Given the description of an element on the screen output the (x, y) to click on. 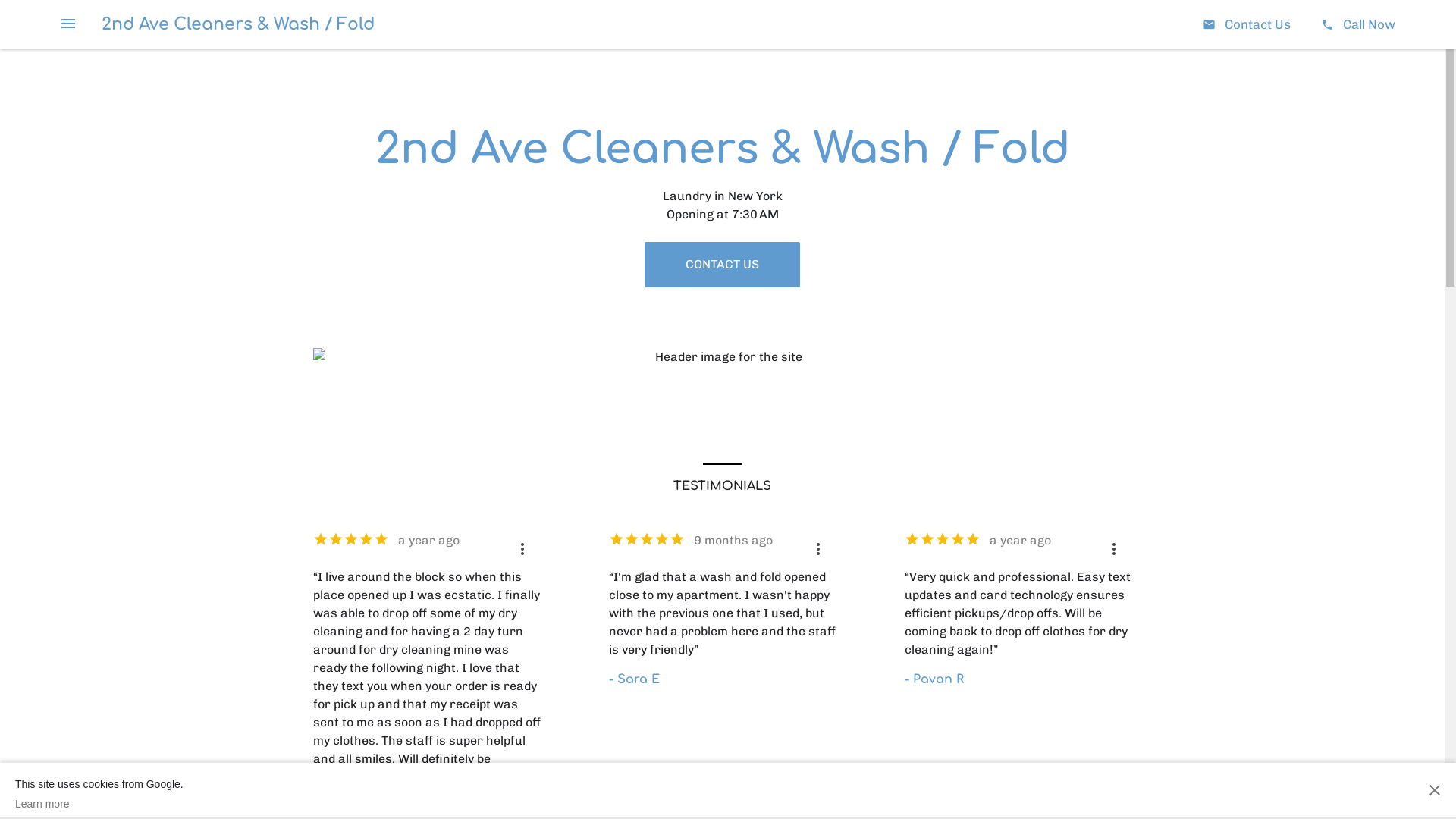
Learn more Element type: text (99, 803)
CONTACT US Element type: text (722, 264)
2nd Ave Cleaners & Wash / Fold Element type: text (237, 24)
